Given the description of an element on the screen output the (x, y) to click on. 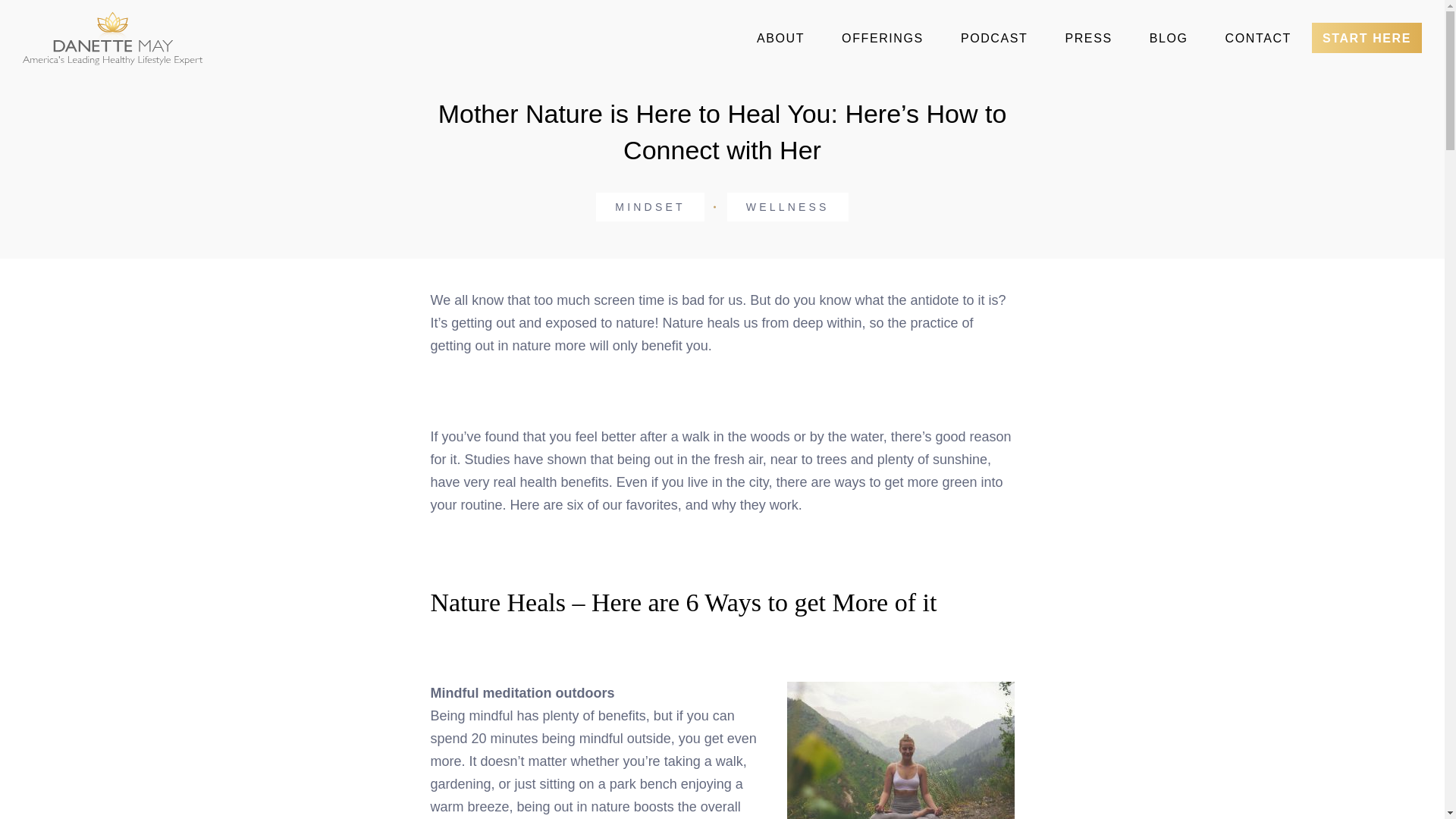
OFFERINGS (882, 38)
START HERE (1366, 37)
MINDSET (649, 206)
BLOG (1168, 38)
CONTACT (1257, 38)
PRESS (1088, 38)
WELLNESS (787, 206)
PODCAST (994, 38)
ABOUT (780, 38)
